Given the description of an element on the screen output the (x, y) to click on. 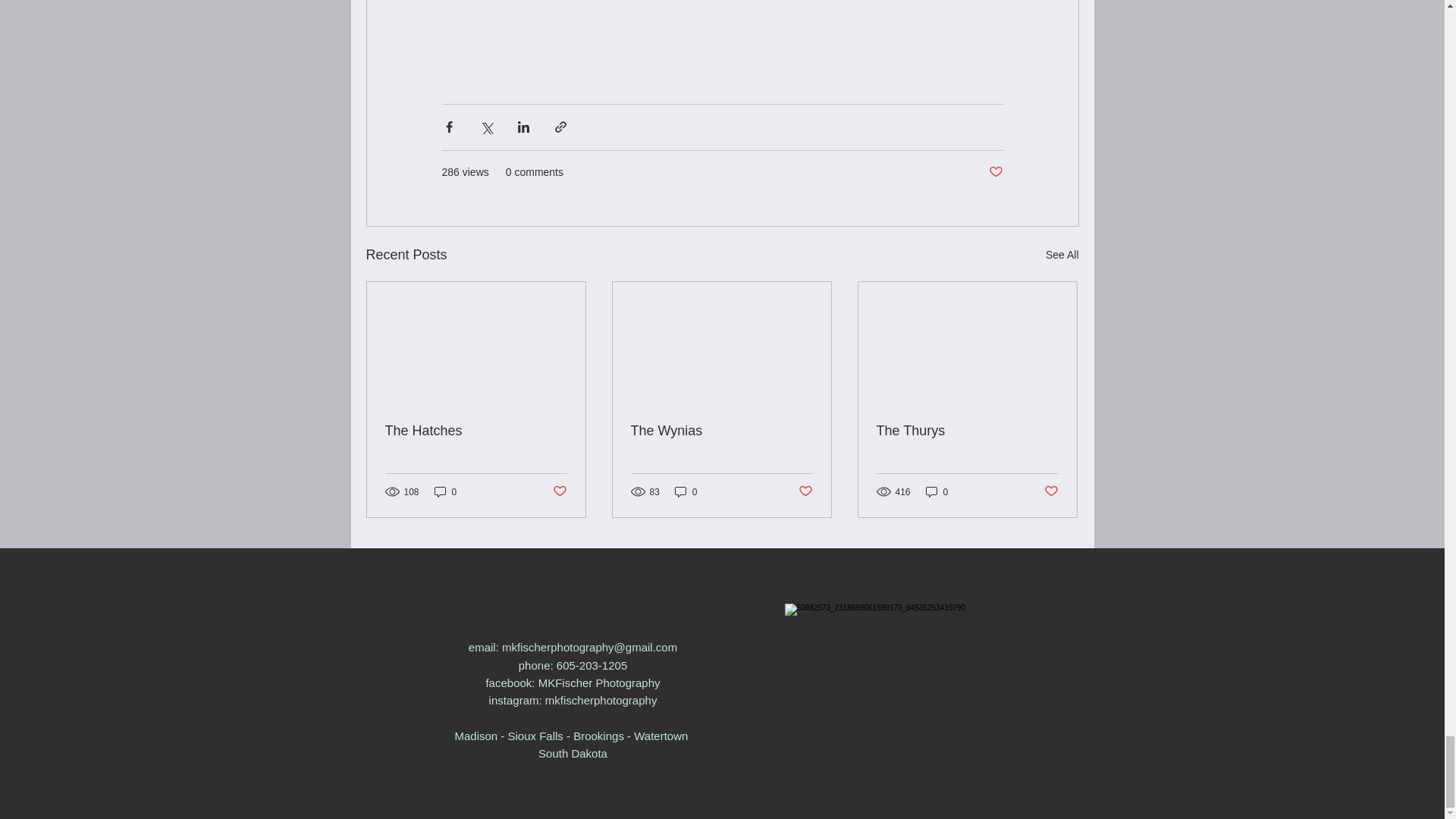
The Thurys (967, 430)
Post not marked as liked (804, 491)
The Hatches (476, 430)
0 (937, 491)
See All (1061, 255)
Post not marked as liked (558, 491)
The Wynias (721, 430)
Post not marked as liked (995, 172)
Post not marked as liked (1050, 491)
0 (445, 491)
